Given the description of an element on the screen output the (x, y) to click on. 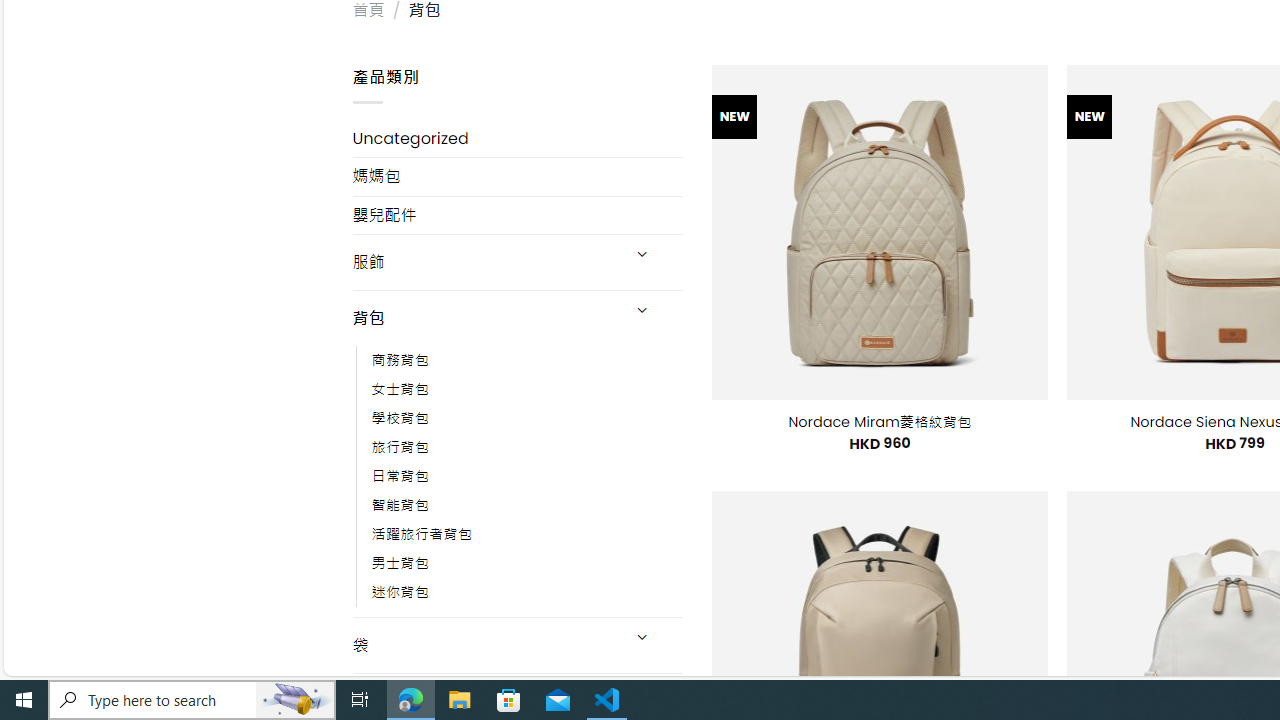
Uncategorized (517, 137)
Uncategorized (517, 137)
